Given the description of an element on the screen output the (x, y) to click on. 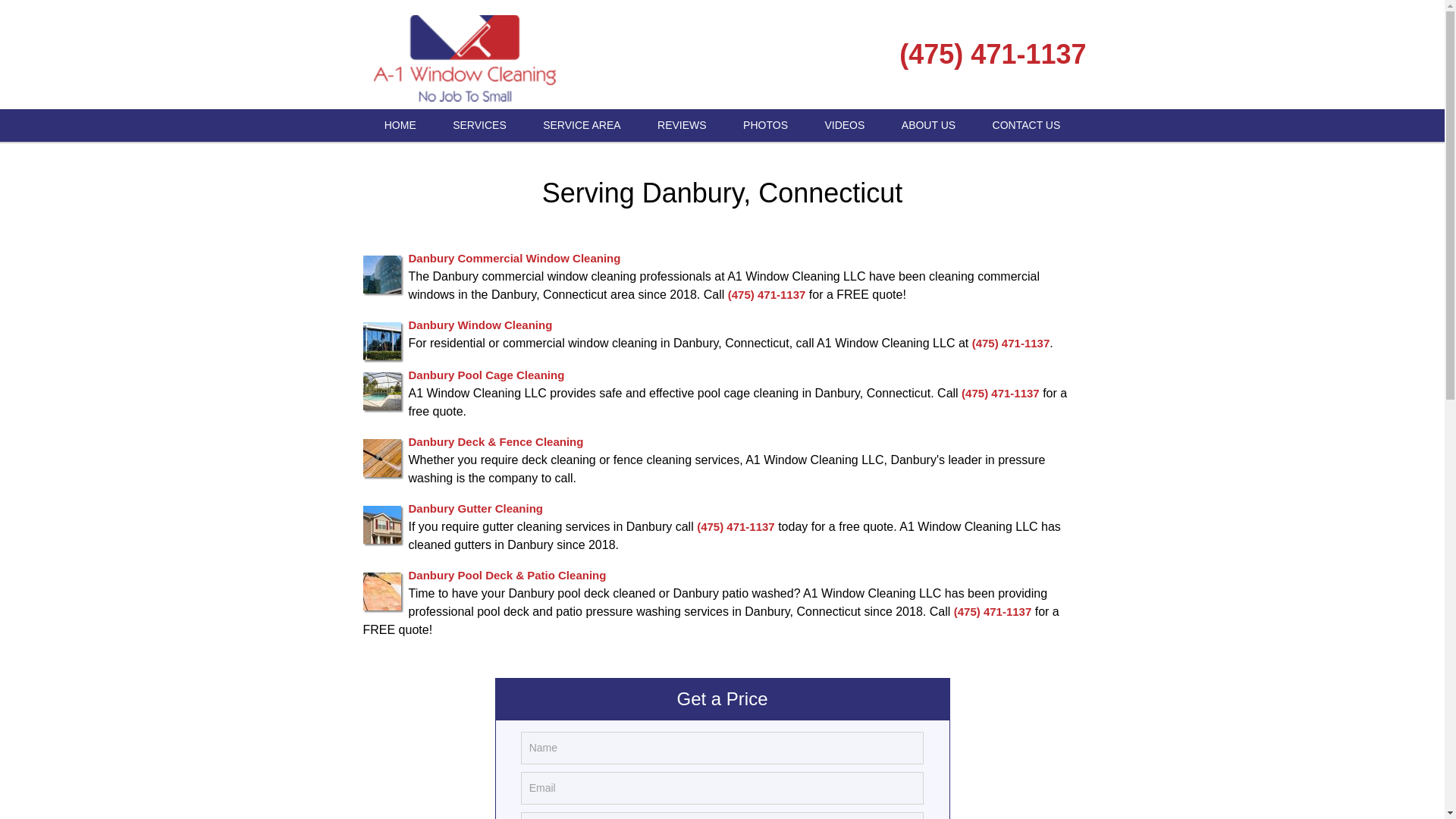
CONTACT US (1026, 124)
Danbury Gutter Cleaning (475, 508)
ABOUT US (928, 124)
Danbury Commercial Window Cleaning (513, 257)
VIDEOS (844, 124)
HOME (400, 124)
Danbury Pool Cage Cleaning (485, 374)
Danbury Window Cleaning (479, 324)
REVIEWS (681, 124)
PHOTOS (765, 124)
SERVICES (478, 124)
SERVICE AREA (581, 124)
